Given the description of an element on the screen output the (x, y) to click on. 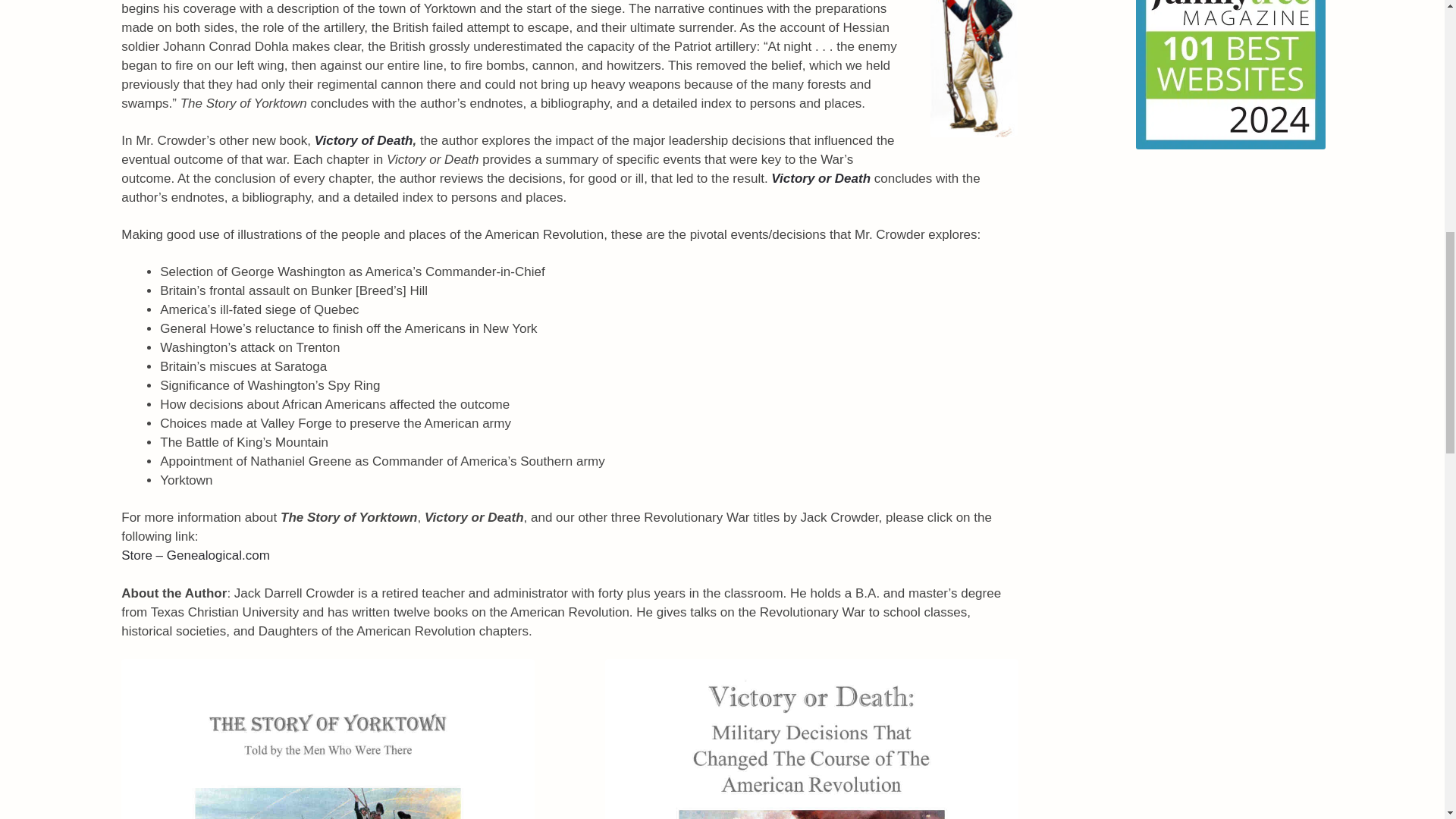
Victory of Death (363, 140)
Victory or Death (820, 178)
